Given the description of an element on the screen output the (x, y) to click on. 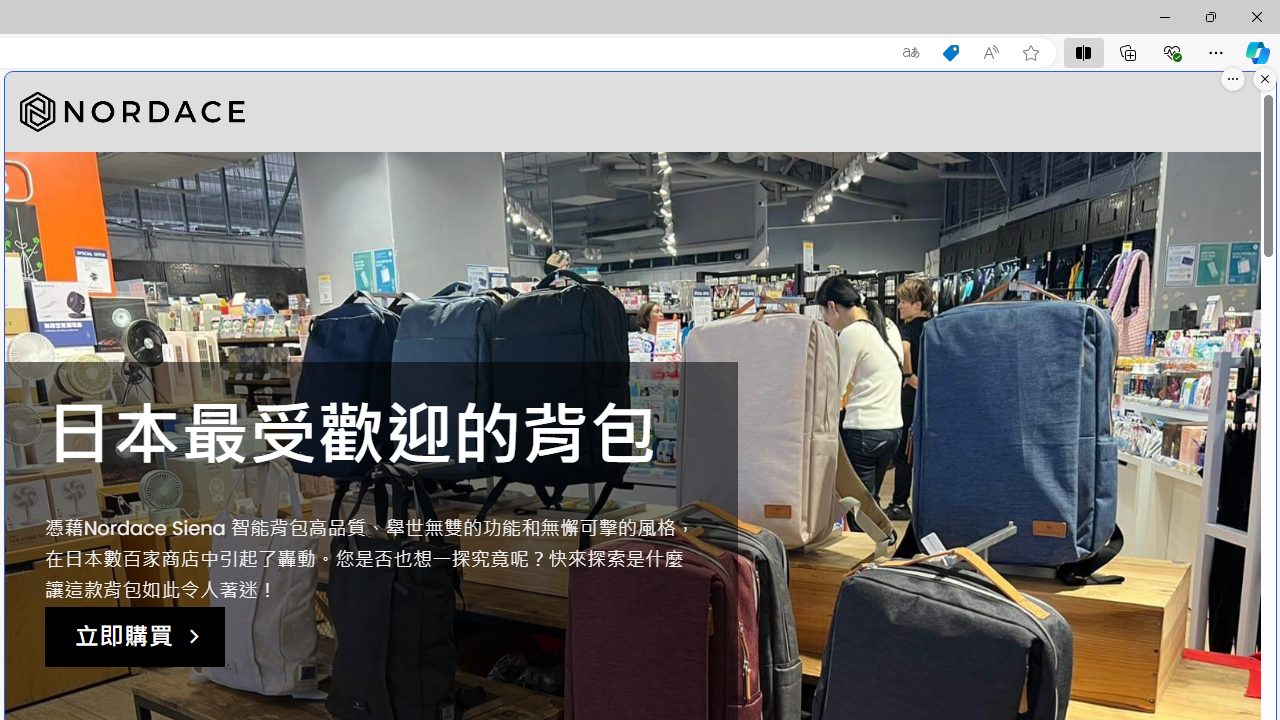
More options. (1233, 79)
This site has coupons! Shopping in Microsoft Edge (950, 53)
Show translate options (910, 53)
